Given the description of an element on the screen output the (x, y) to click on. 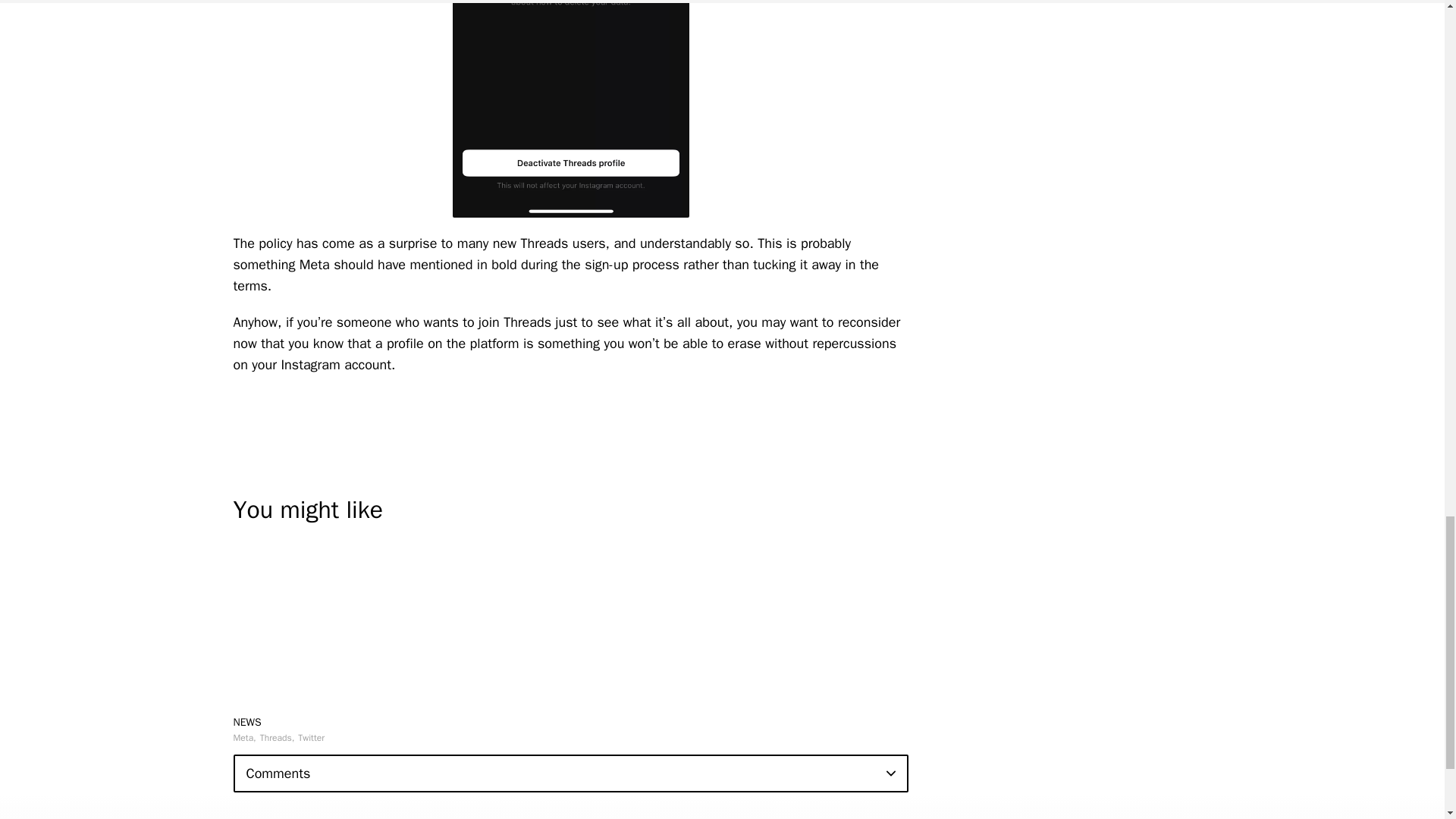
Twitter (311, 737)
deactivate Threads account (569, 108)
NEWS (247, 721)
Threads (277, 737)
Comments (570, 773)
Meta (244, 737)
